Given the description of an element on the screen output the (x, y) to click on. 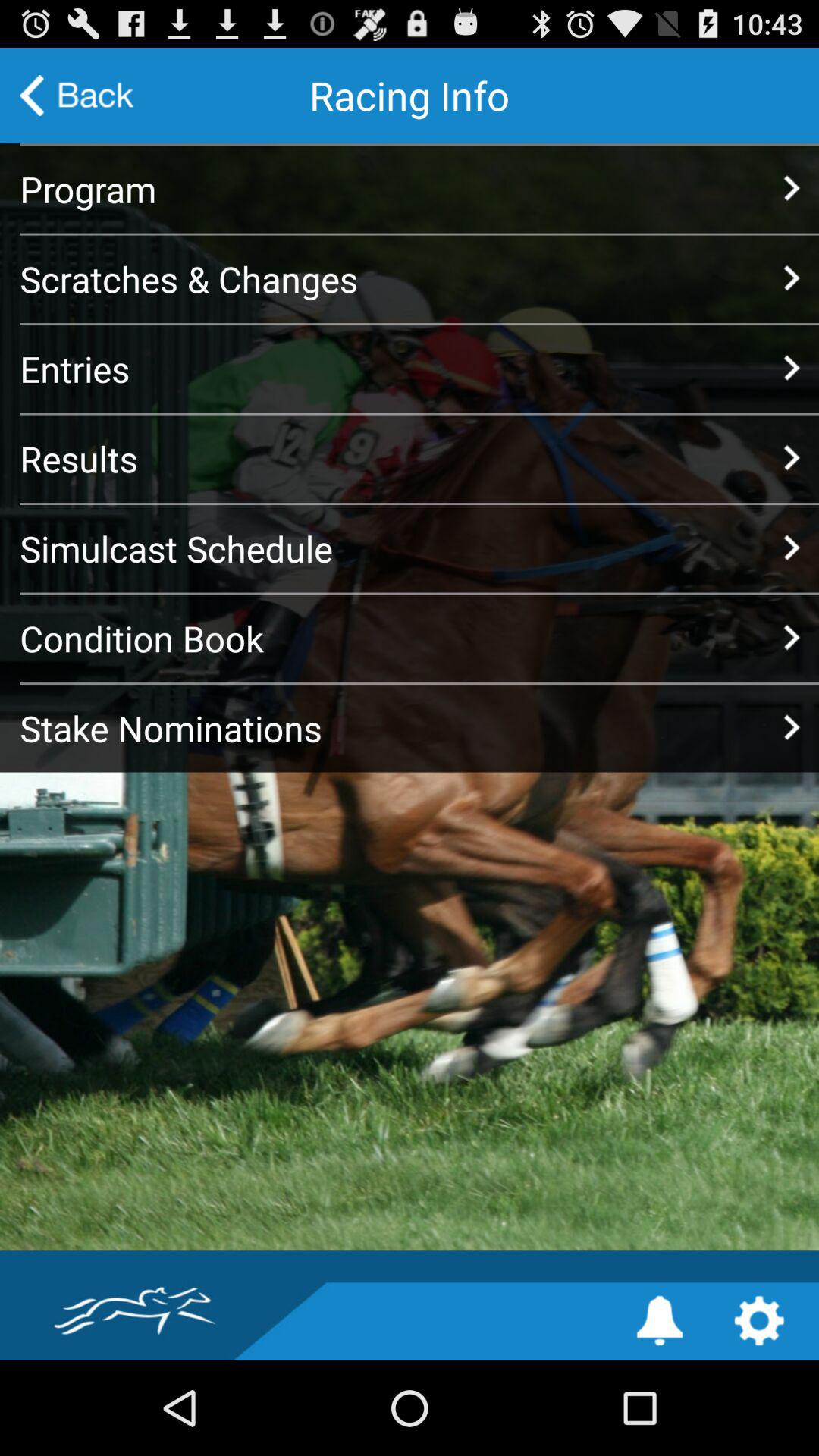
click the icon at the bottom left corner (118, 1320)
